Given the description of an element on the screen output the (x, y) to click on. 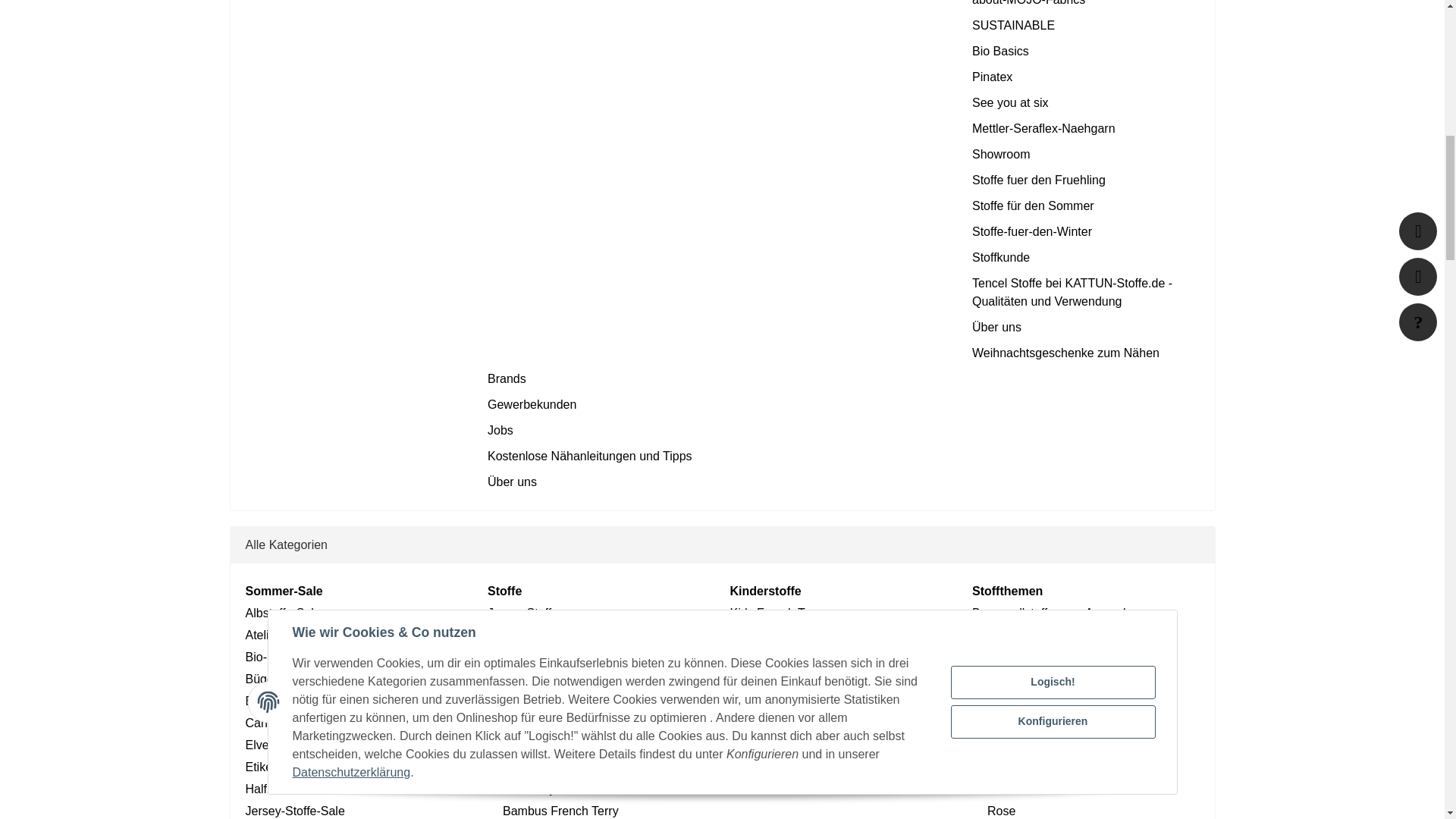
Showroom (1085, 154)
Pinatex (1085, 76)
Mettler-Seraflex-Naehgarn (1085, 128)
Bio Basics (1085, 51)
Gewerbekunden (600, 404)
Stoffkunde (1085, 257)
Stoffe fuer den Fruehling (1085, 180)
SUSTAINABLE (1085, 25)
about-MOJO-Fabrics (1085, 4)
Brands (600, 379)
